Given the description of an element on the screen output the (x, y) to click on. 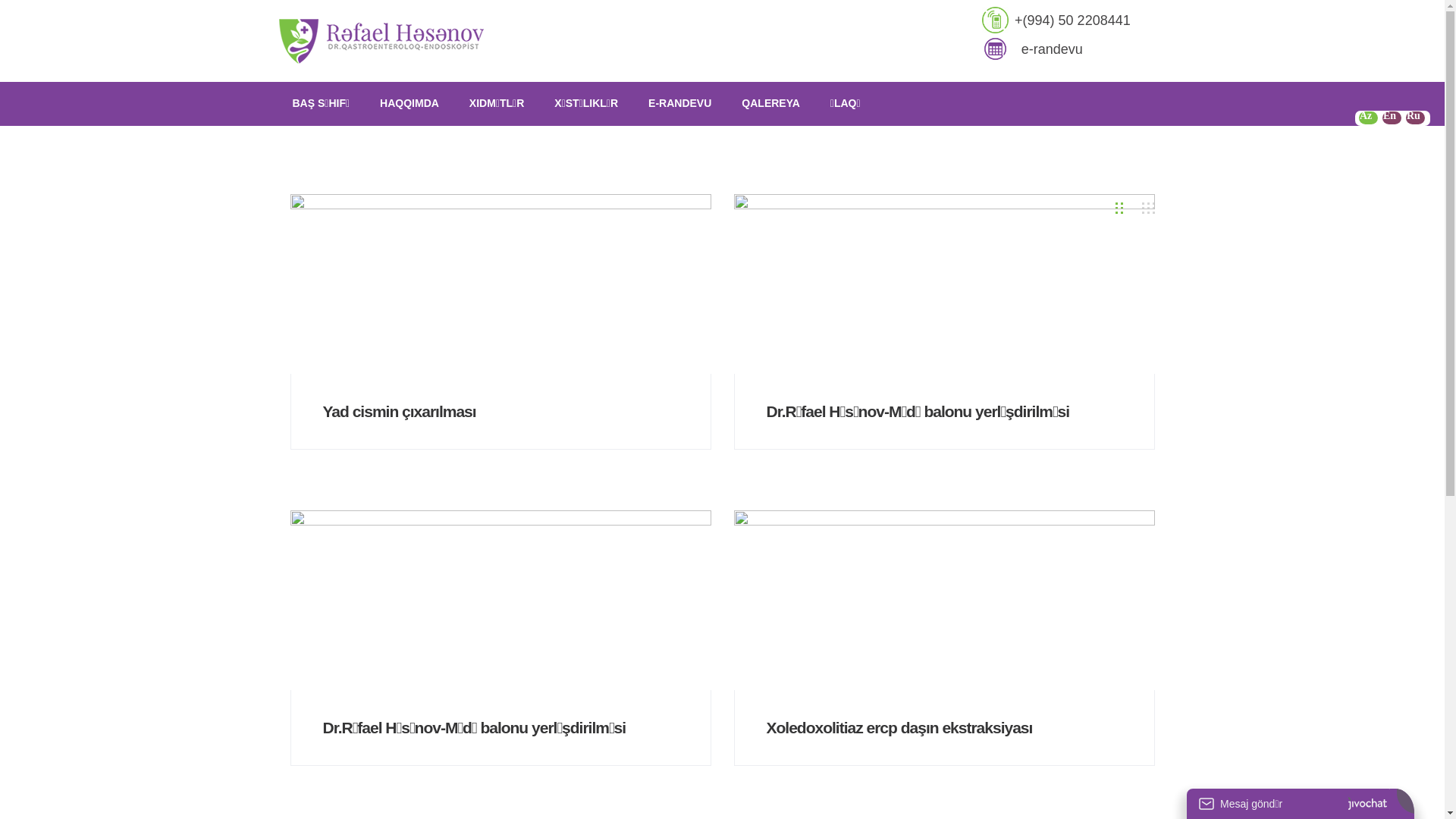
QALEREYA Element type: text (772, 102)
E-RANDEVU Element type: text (681, 102)
+(994) 50 2208441 Element type: text (1072, 20)
e-randevu Element type: text (1051, 49)
HAQQIMDA Element type: text (410, 102)
